Given the description of an element on the screen output the (x, y) to click on. 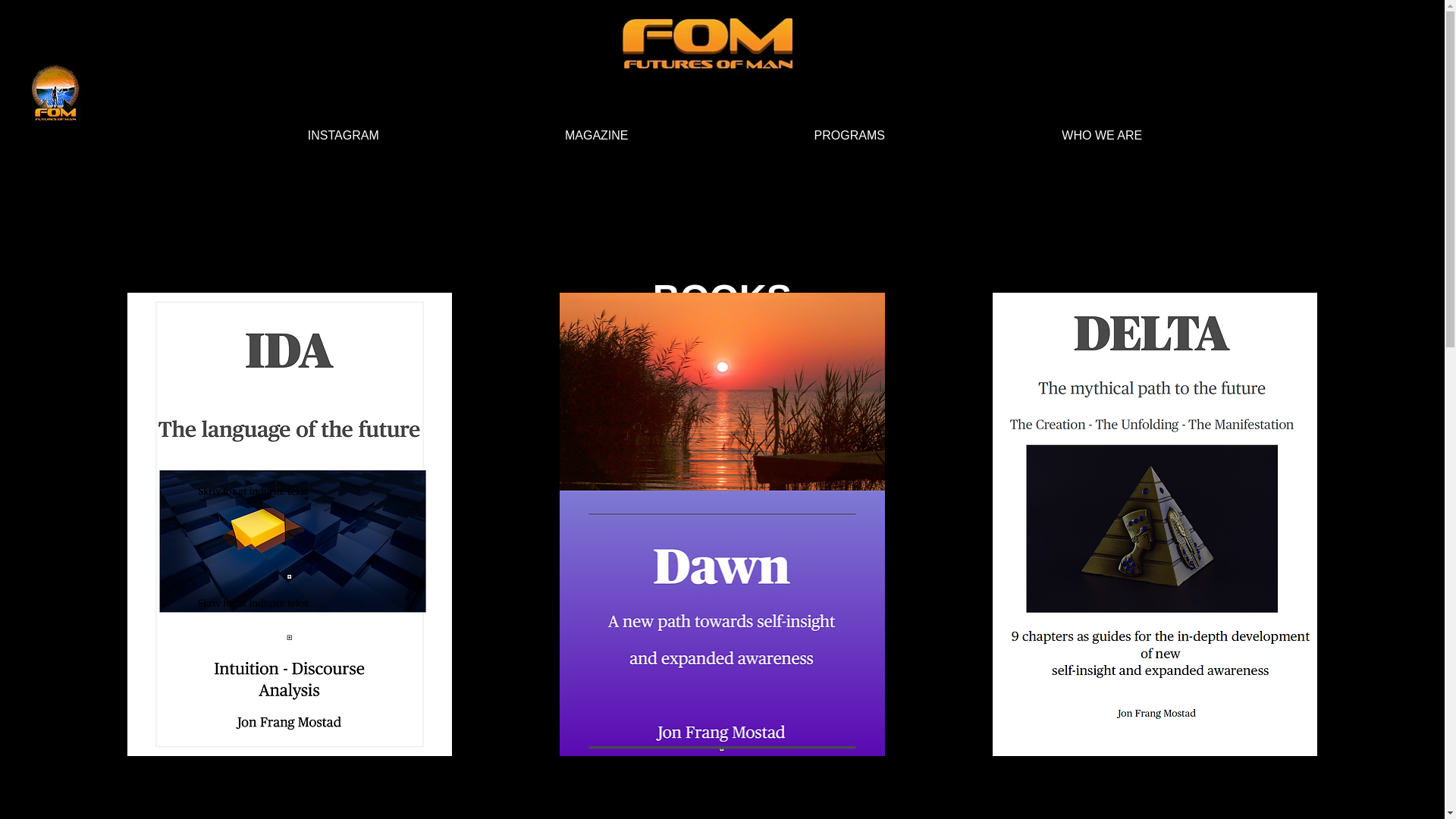
PROGRAMS (849, 135)
WHO WE ARE (1101, 135)
MAGAZINE (596, 135)
INSTAGRAM (343, 135)
